Given the description of an element on the screen output the (x, y) to click on. 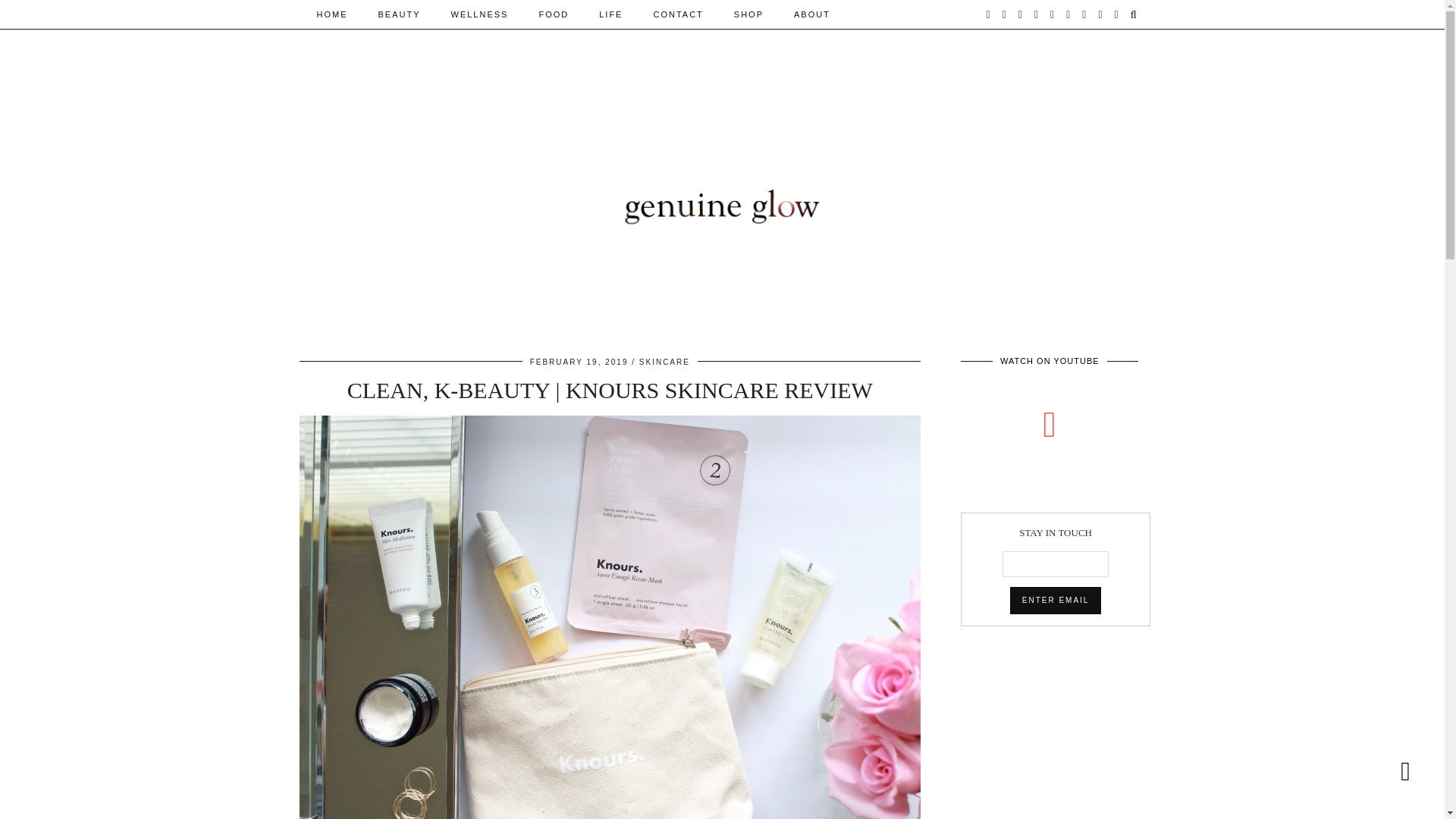
HOME (331, 14)
CONTACT (677, 14)
ABOUT (811, 14)
SKINCARE (664, 361)
BEAUTY (398, 14)
ENTER EMAIL (1056, 600)
FOOD (552, 14)
WELLNESS (479, 14)
SHOP (748, 14)
